Given the description of an element on the screen output the (x, y) to click on. 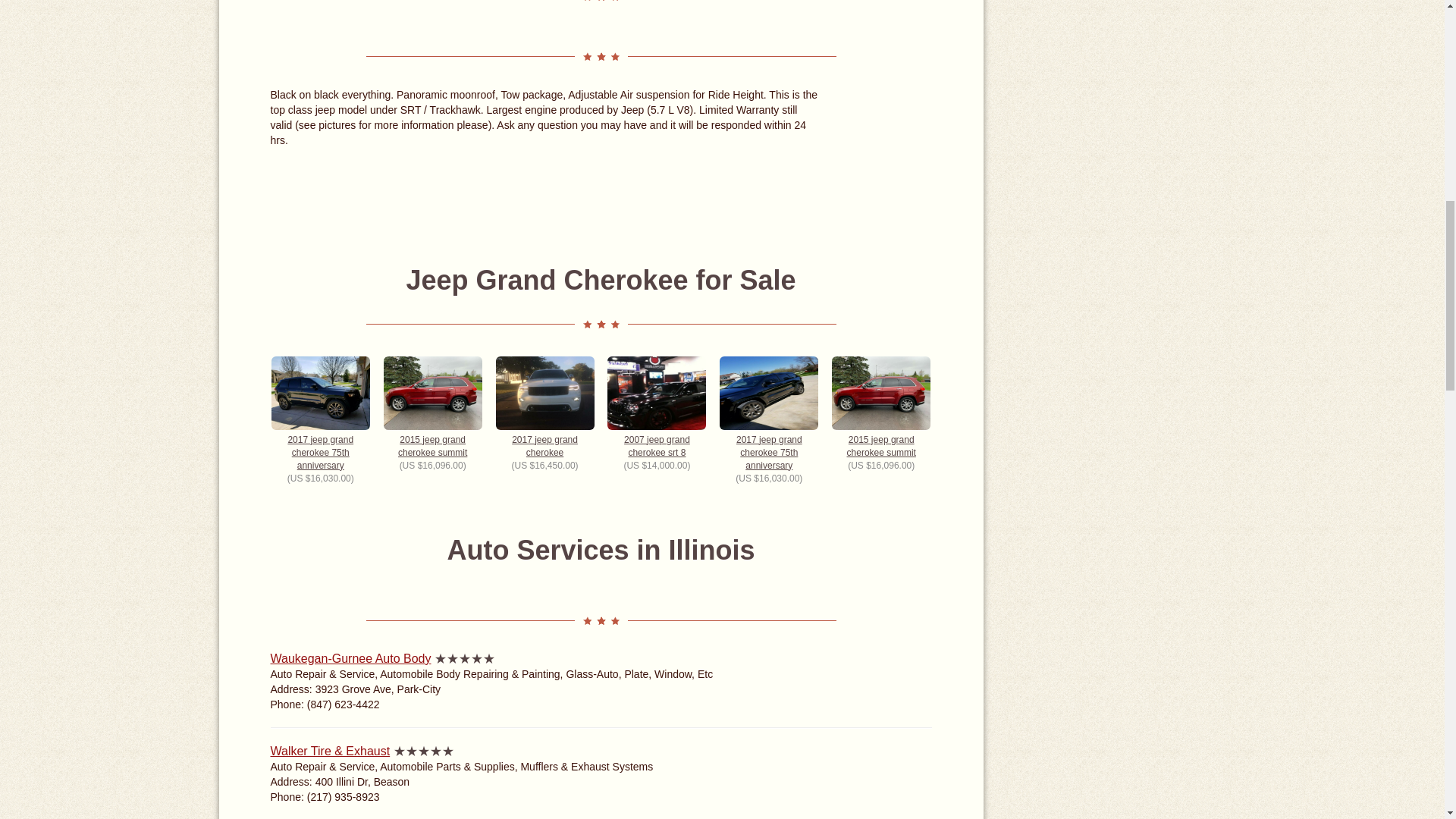
2017 jeep grand cherokee (545, 407)
2007 jeep grand cherokee srt 8 (656, 407)
Waukegan-Gurnee Auto Body (349, 658)
2015 jeep grand cherokee summit (880, 407)
2015 jeep grand cherokee summit (432, 407)
